Given the description of an element on the screen output the (x, y) to click on. 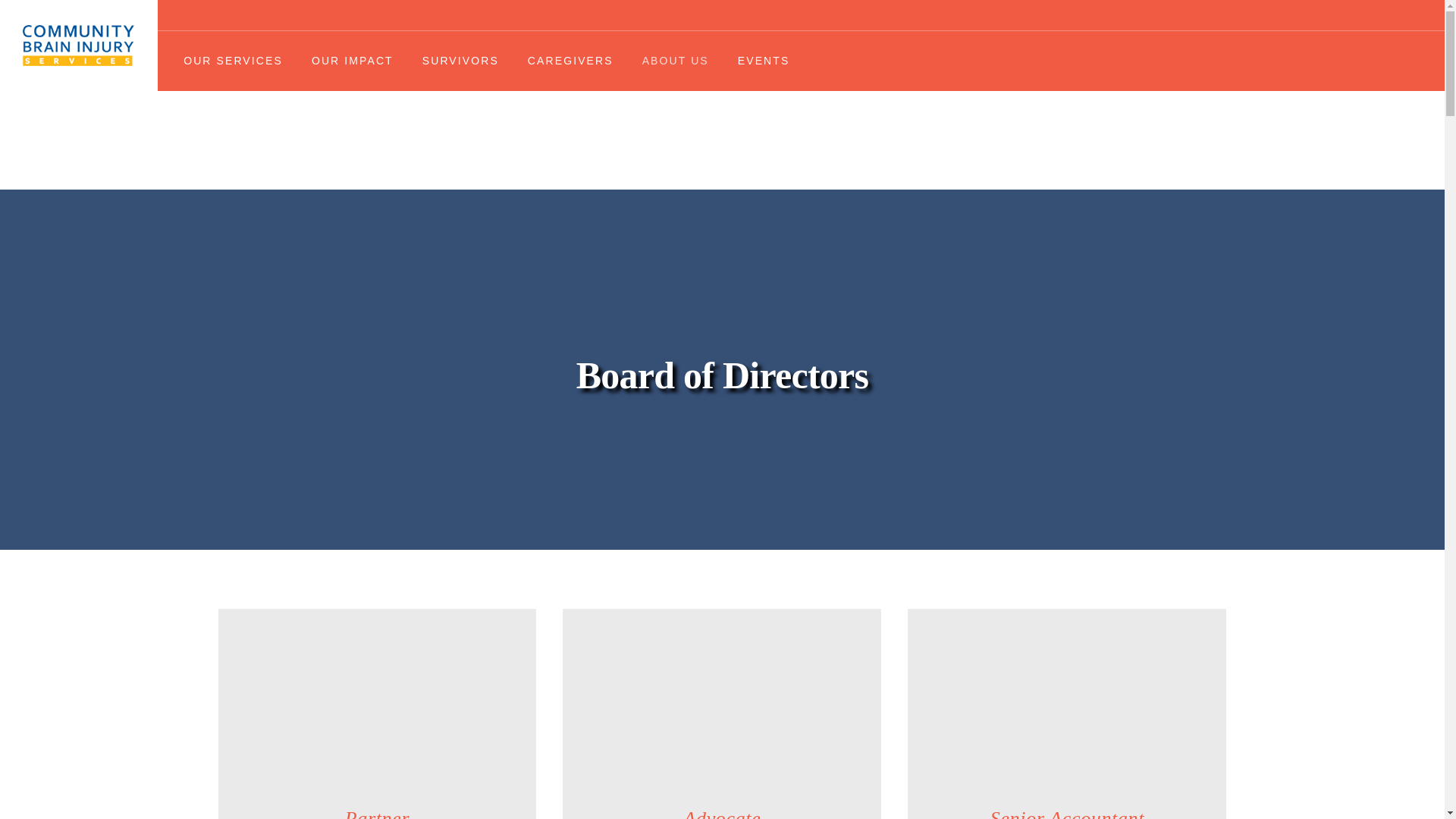
SURVIVORS (460, 60)
CAREGIVERS (569, 60)
OUR IMPACT (352, 60)
ABOUT US (675, 60)
OUR SERVICES (232, 60)
